Given the description of an element on the screen output the (x, y) to click on. 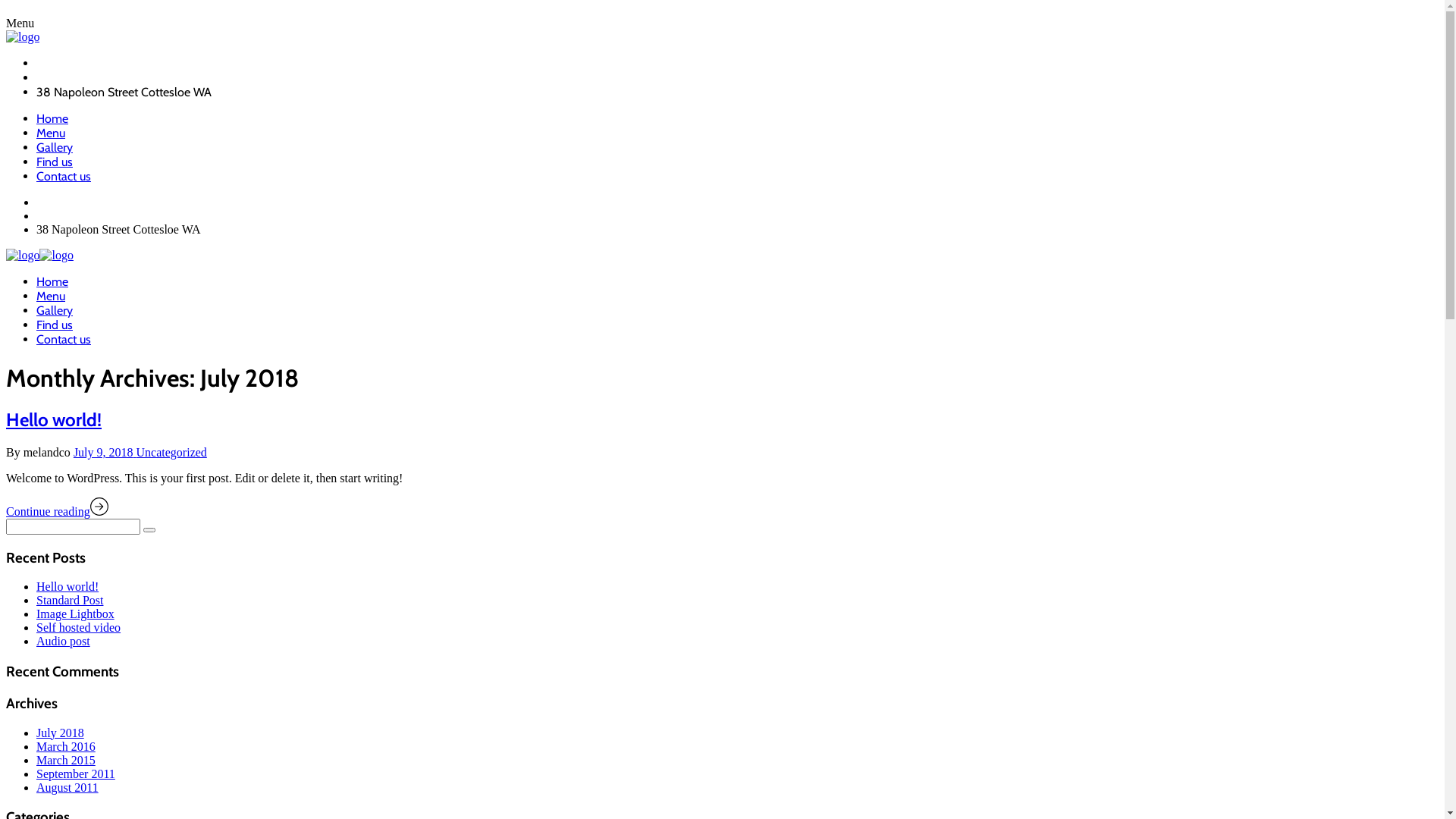
Continue reading Element type: text (57, 511)
Standard Post Element type: text (69, 599)
Image Lightbox Element type: text (75, 613)
March 2015 Element type: text (65, 759)
Hello world! Element type: text (53, 419)
Home Element type: text (52, 281)
Contact us Element type: text (63, 176)
Home Element type: text (52, 118)
Audio post Element type: text (63, 640)
March 2016 Element type: text (65, 746)
Gallery Element type: text (54, 147)
July 9, 2018 Element type: text (104, 451)
Uncategorized Element type: text (171, 451)
Find us Element type: text (54, 324)
Self hosted video Element type: text (78, 627)
Contact us Element type: text (63, 339)
September 2011 Element type: text (75, 773)
Search Element type: hover (149, 529)
July 2018 Element type: text (60, 732)
Find us Element type: text (54, 161)
Menu Element type: text (50, 132)
Gallery Element type: text (54, 310)
August 2011 Element type: text (67, 787)
Hello world! Element type: text (67, 586)
Menu Element type: text (50, 295)
